Given the description of an element on the screen output the (x, y) to click on. 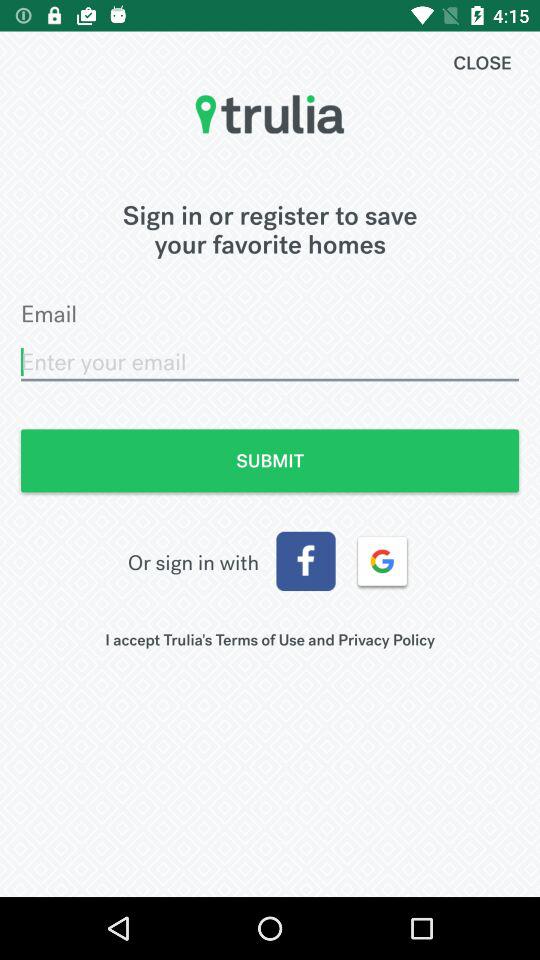
turn on close (482, 62)
